Given the description of an element on the screen output the (x, y) to click on. 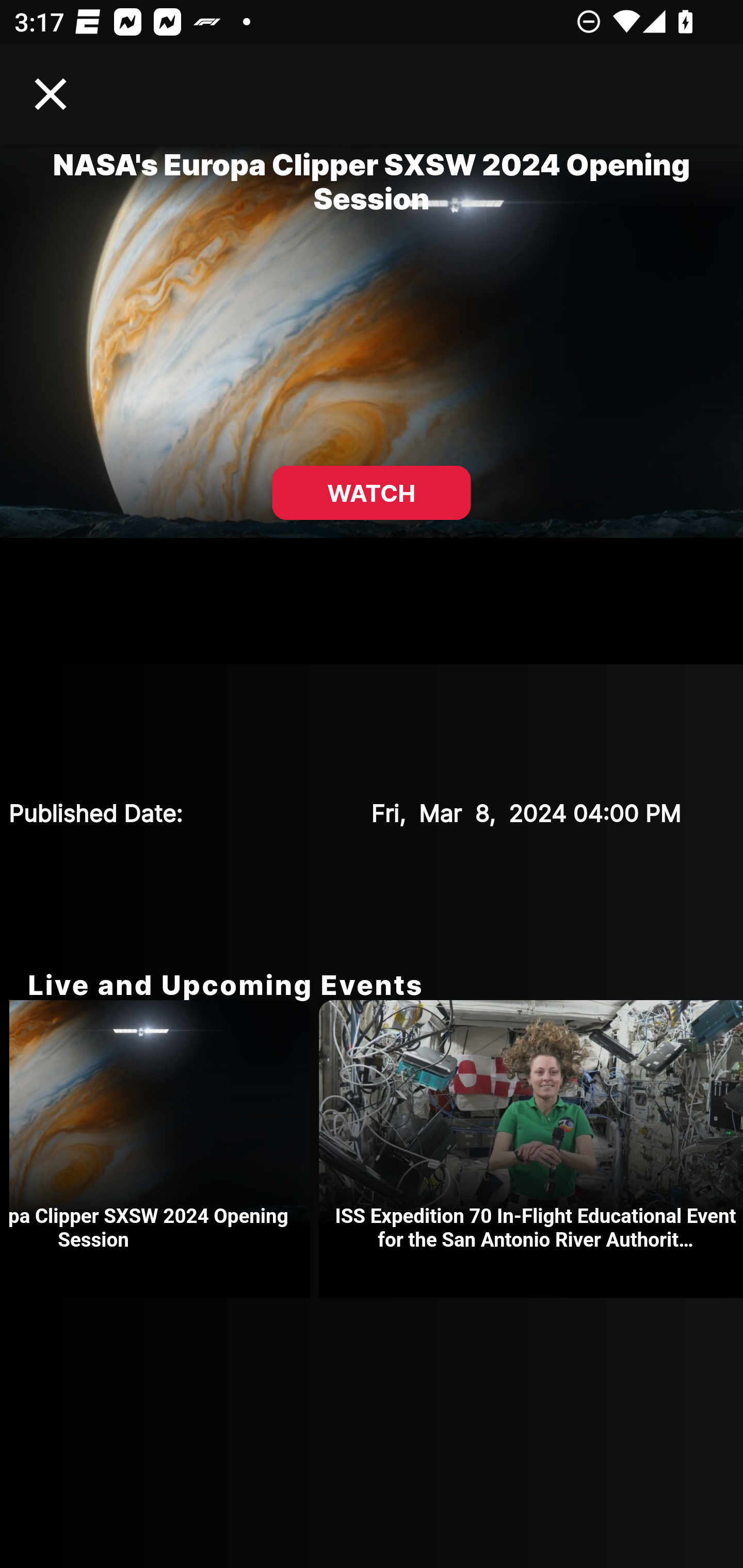
WATCH (371, 492)
NASA's Europa Clipper SXSW 2024 Opening Session (163, 1149)
